Given the description of an element on the screen output the (x, y) to click on. 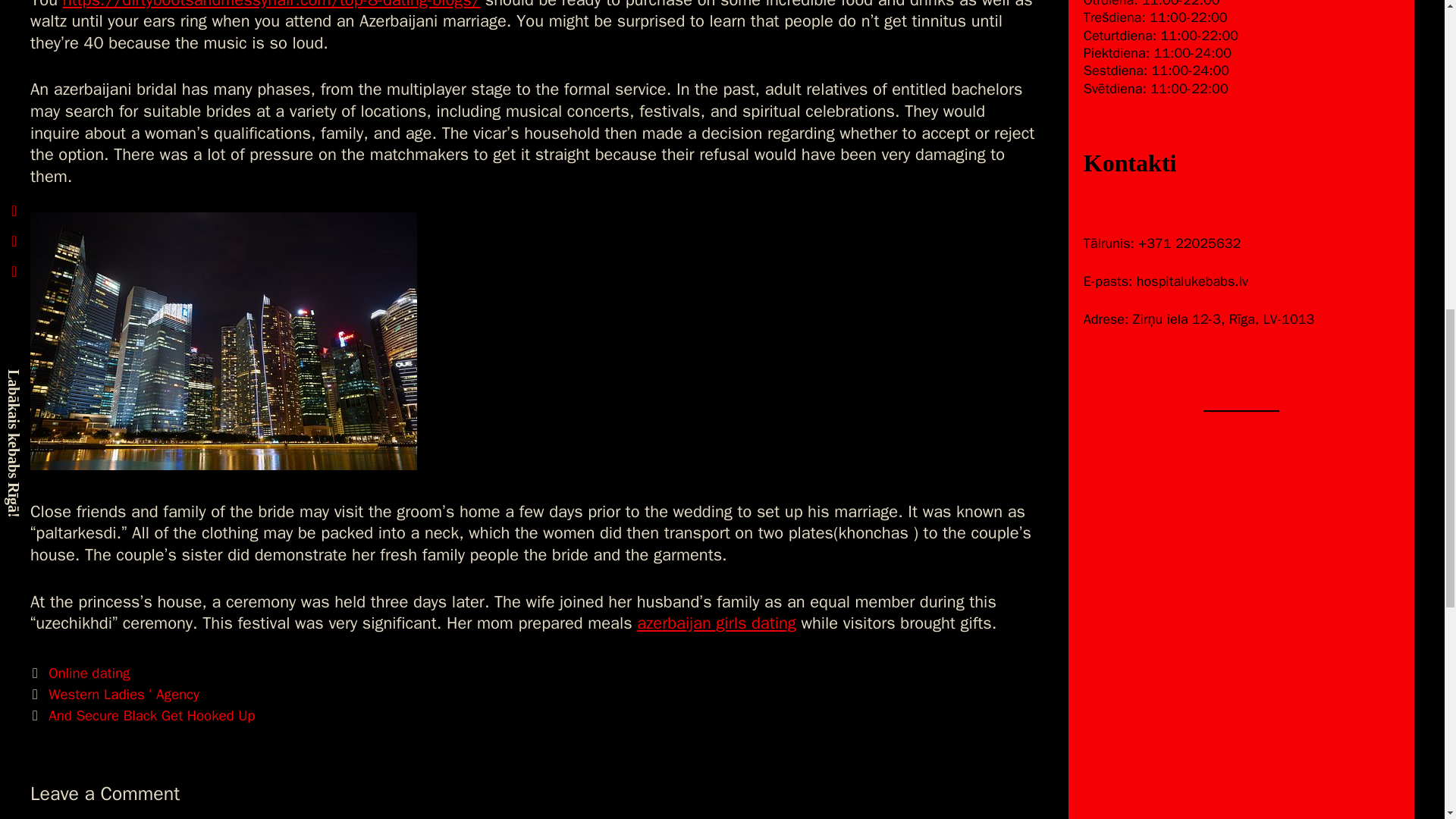
And Secure Black Get Hooked Up (151, 715)
azerbaijan girls dating (716, 622)
Online dating (88, 673)
Next (142, 715)
Previous (114, 694)
